Given the description of an element on the screen output the (x, y) to click on. 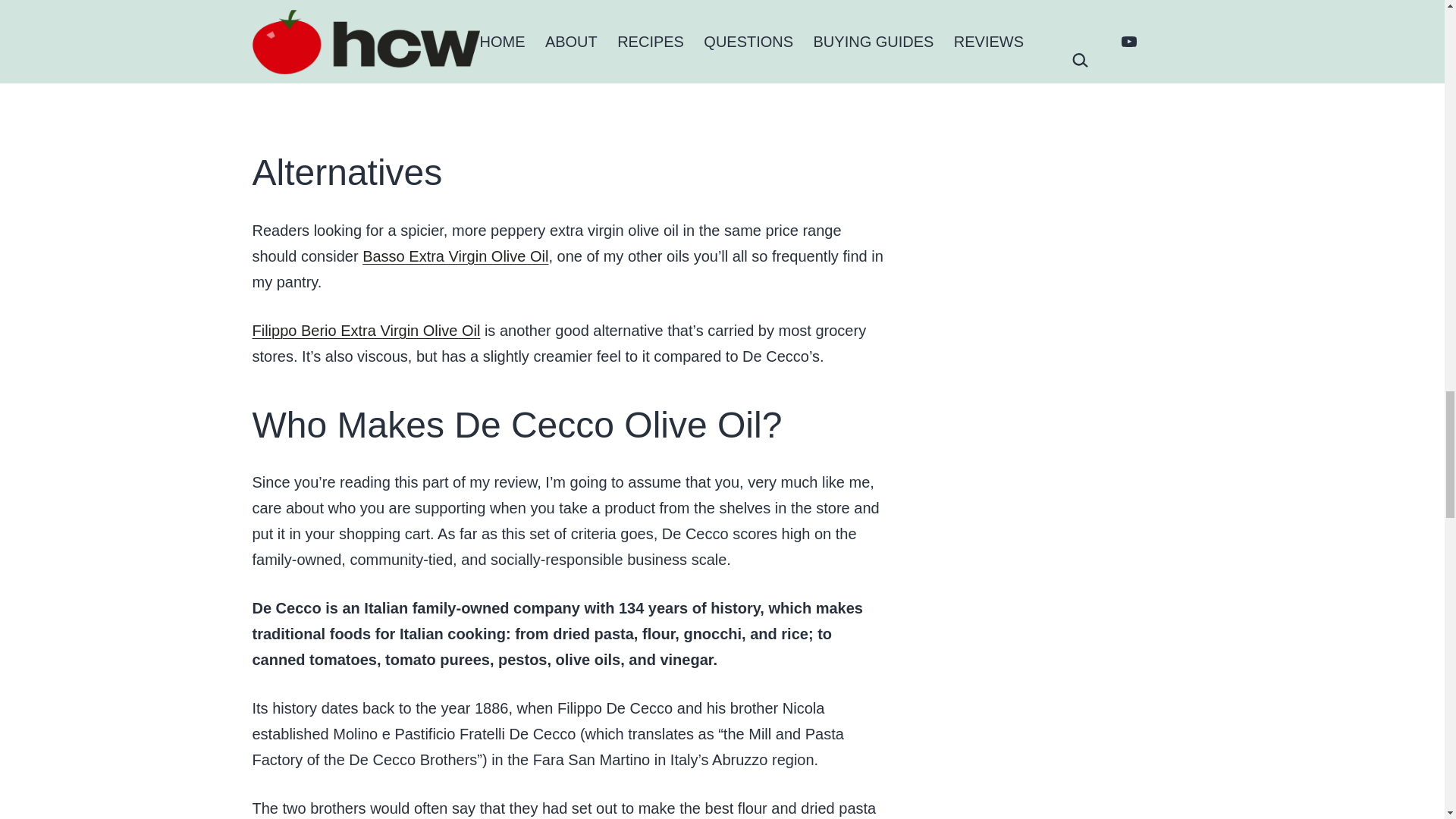
Basso Extra Virgin Olive Oil (455, 255)
Filippo Berio Extra Virgin Olive Oil (365, 329)
